Given the description of an element on the screen output the (x, y) to click on. 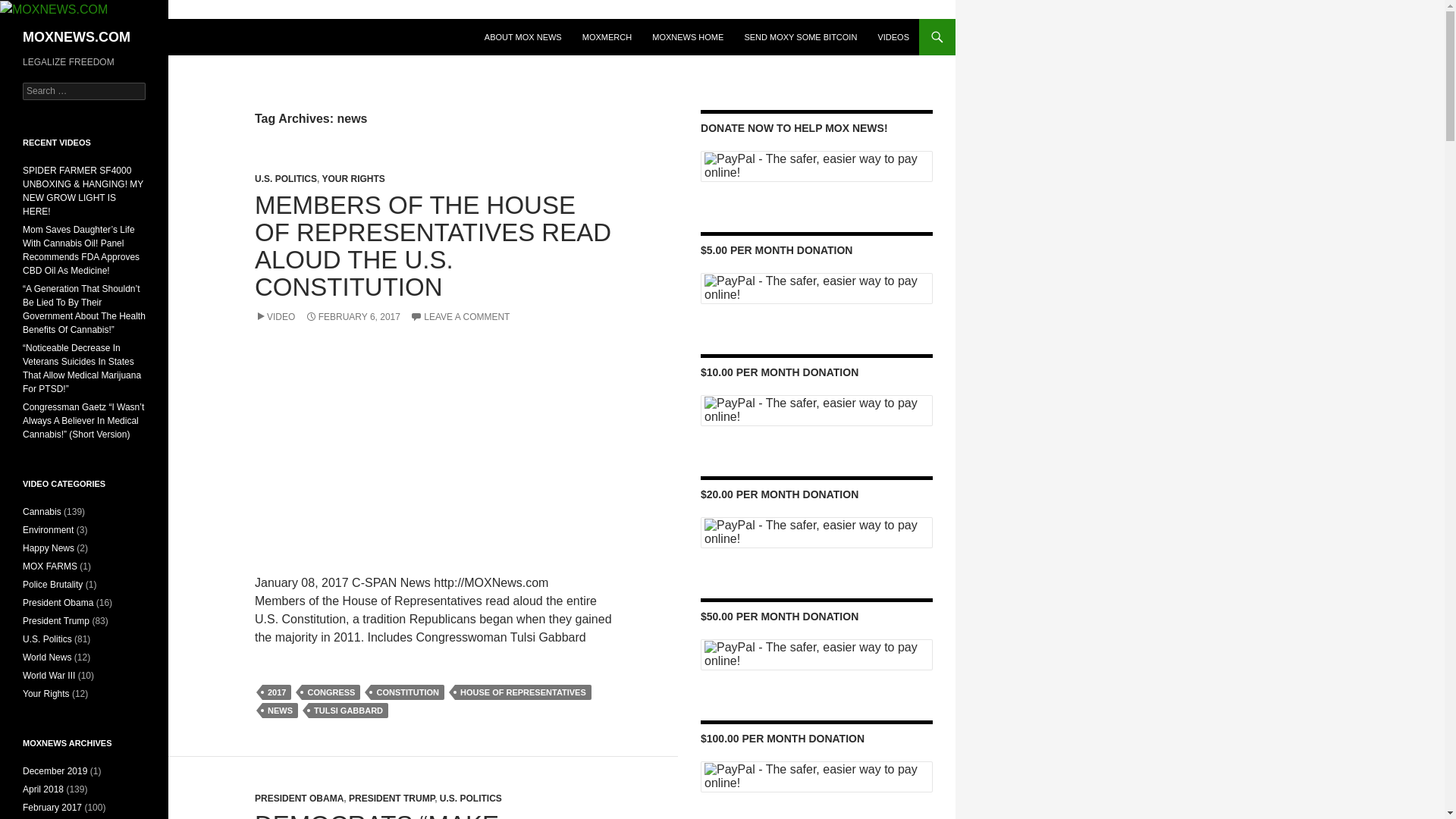
PRESIDENT TRUMP (391, 798)
PRESIDENT OBAMA (298, 798)
U.S. POLITICS (470, 798)
NEWS (280, 710)
YOUR RIGHTS (352, 178)
FEBRUARY 6, 2017 (352, 317)
2017 (276, 692)
CONGRESS (330, 692)
MOXMERCH (606, 36)
LEAVE A COMMENT (459, 317)
SEND MOXY SOME BITCOIN (800, 36)
MOXNEWS HOME (687, 36)
TULSI GABBARD (348, 710)
CONSTITUTION (407, 692)
